Given the description of an element on the screen output the (x, y) to click on. 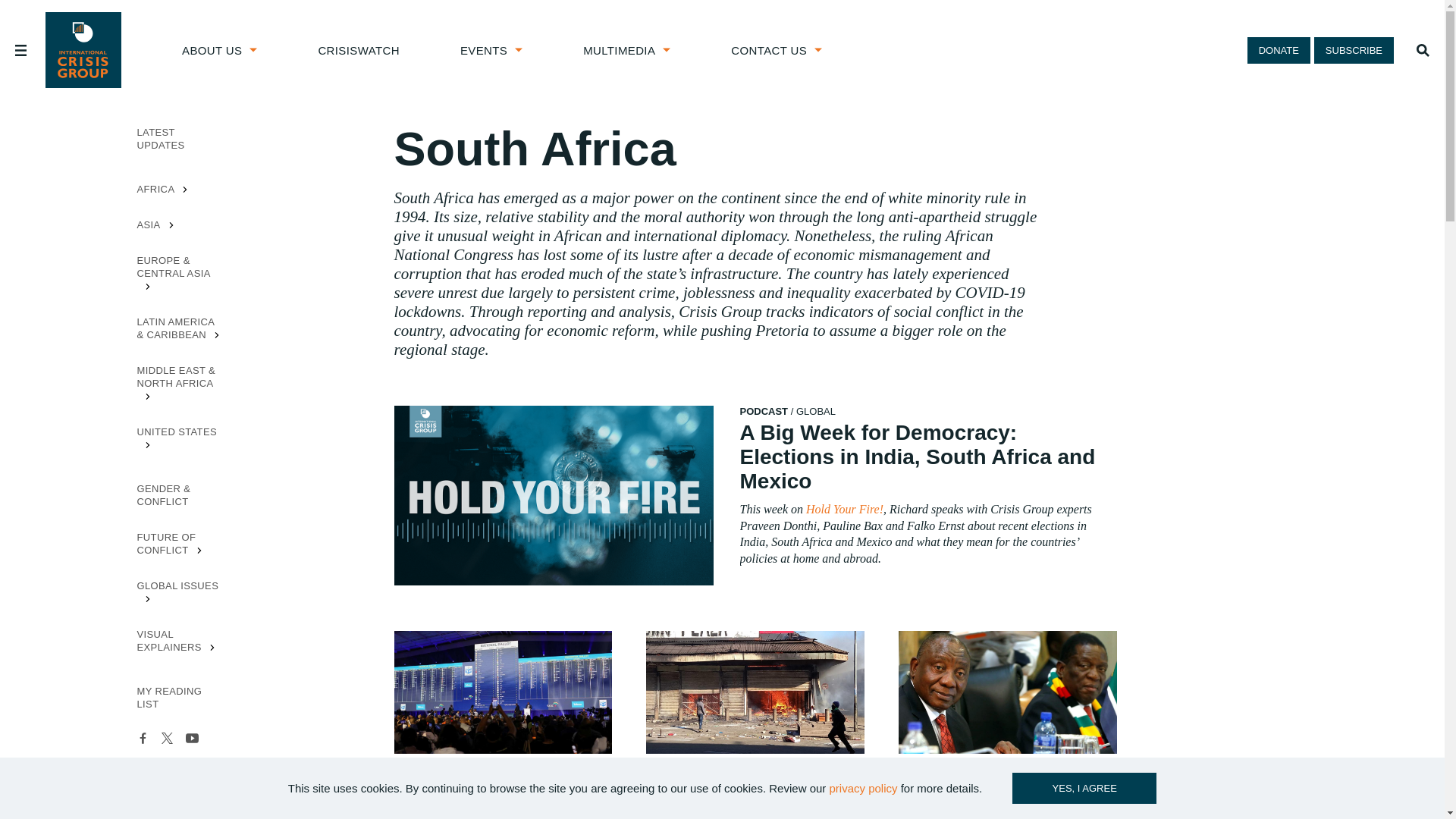
CRISISWATCH (357, 50)
Crisis Group (82, 49)
CONTACT US (776, 50)
ABOUT US (219, 50)
MULTIMEDIA (626, 50)
DONATE (1278, 49)
EVENTS (491, 50)
SUBSCRIBE (1353, 49)
